Given the description of an element on the screen output the (x, y) to click on. 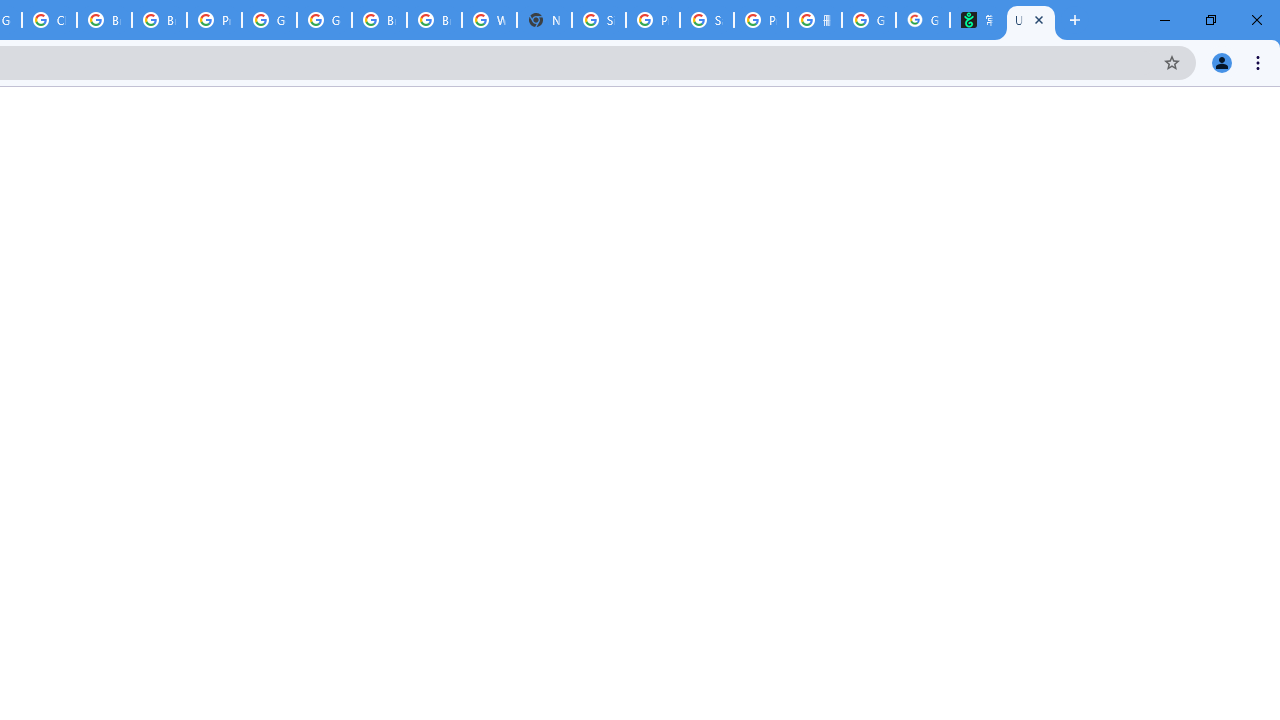
Browse Chrome as a guest - Computer - Google Chrome Help (379, 20)
Google Cloud Platform (268, 20)
Sign in - Google Accounts (598, 20)
Untitled (1030, 20)
